Given the description of an element on the screen output the (x, y) to click on. 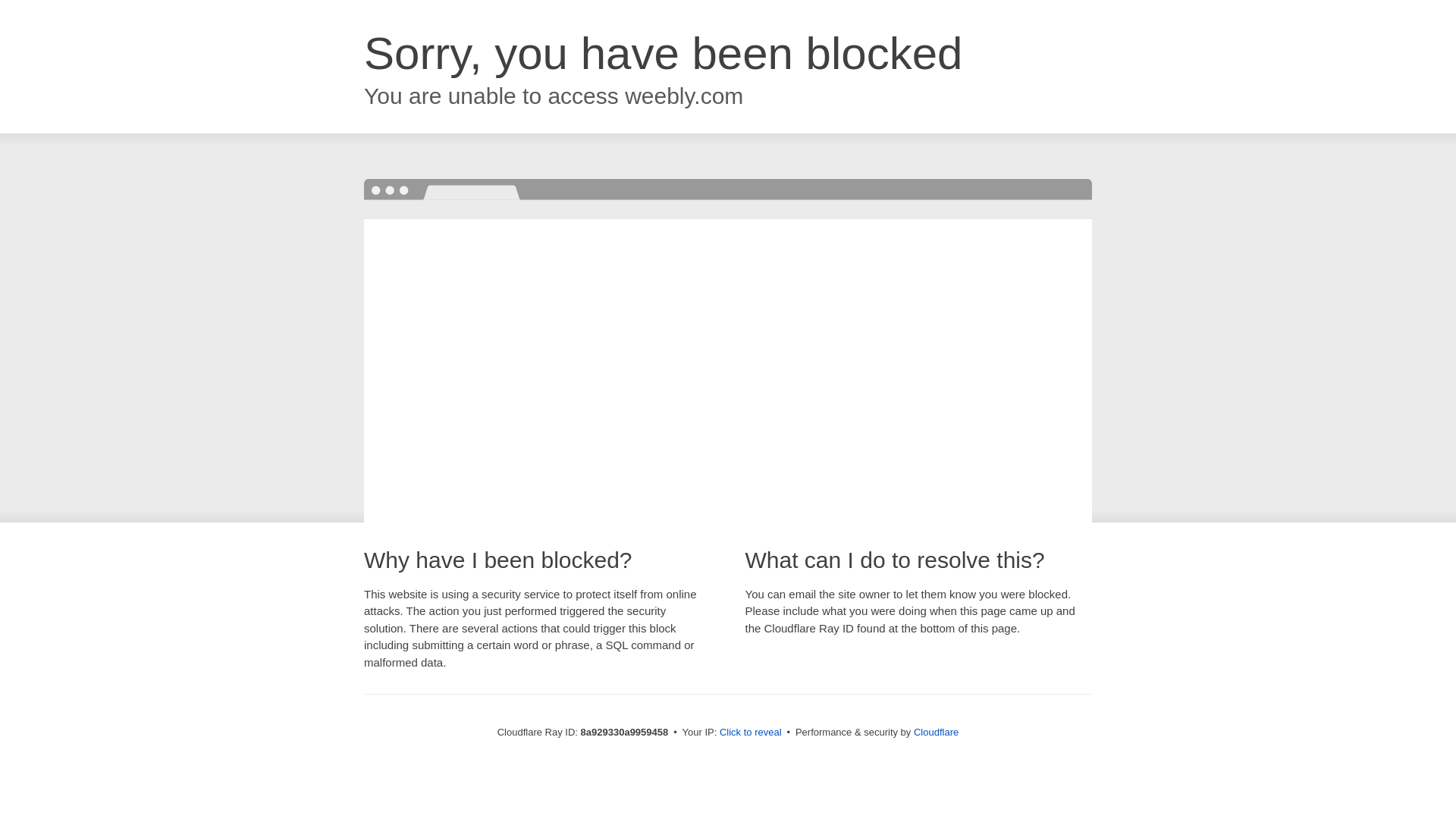
Cloudflare (936, 731)
Click to reveal (750, 732)
